Given the description of an element on the screen output the (x, y) to click on. 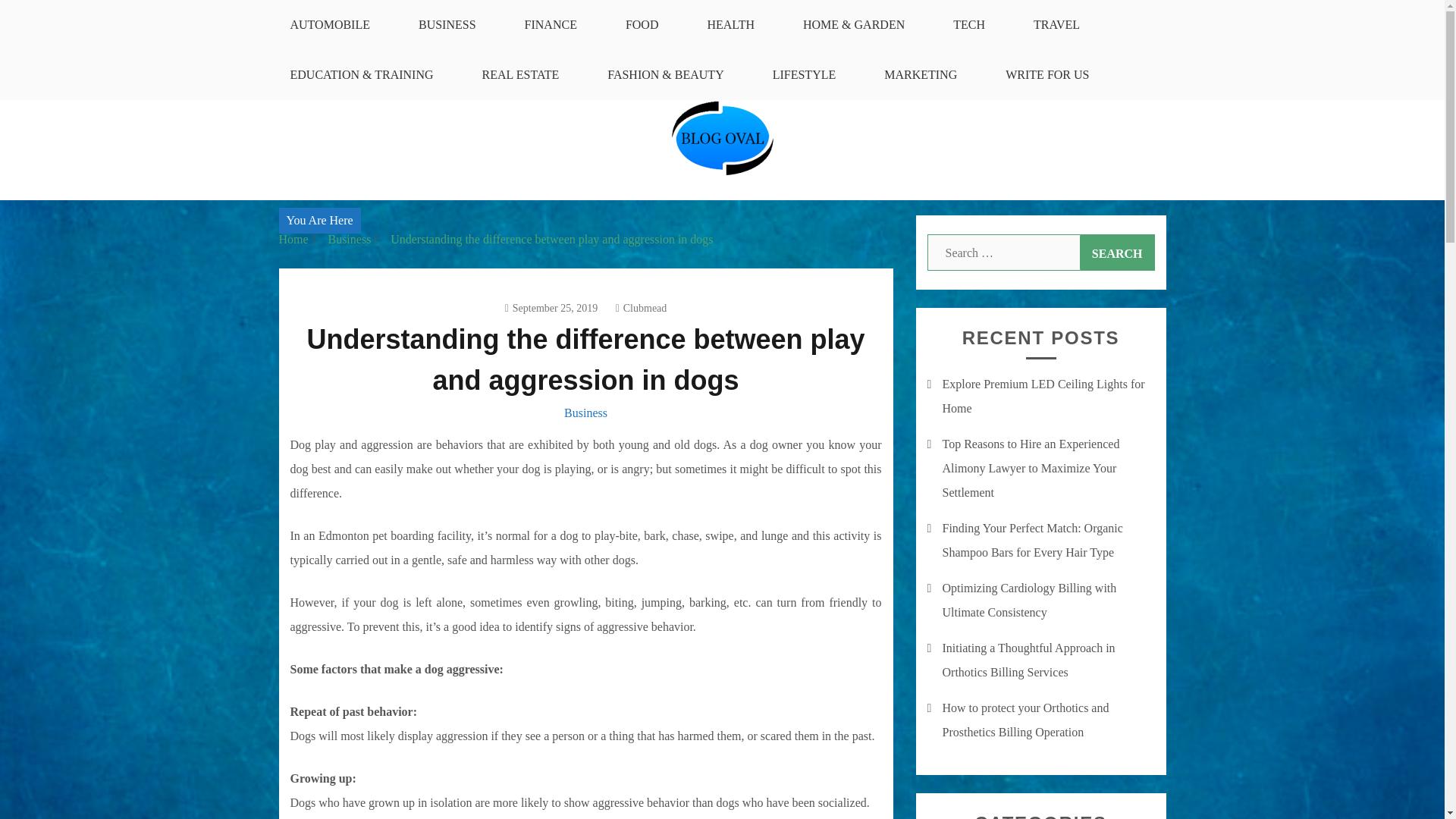
FOOD (641, 24)
Search (1117, 252)
WRITE FOR US (1047, 74)
Search (1117, 252)
Search (1117, 252)
BUSINESS (447, 24)
REAL ESTATE (521, 74)
Clubmead (640, 307)
